Given the description of an element on the screen output the (x, y) to click on. 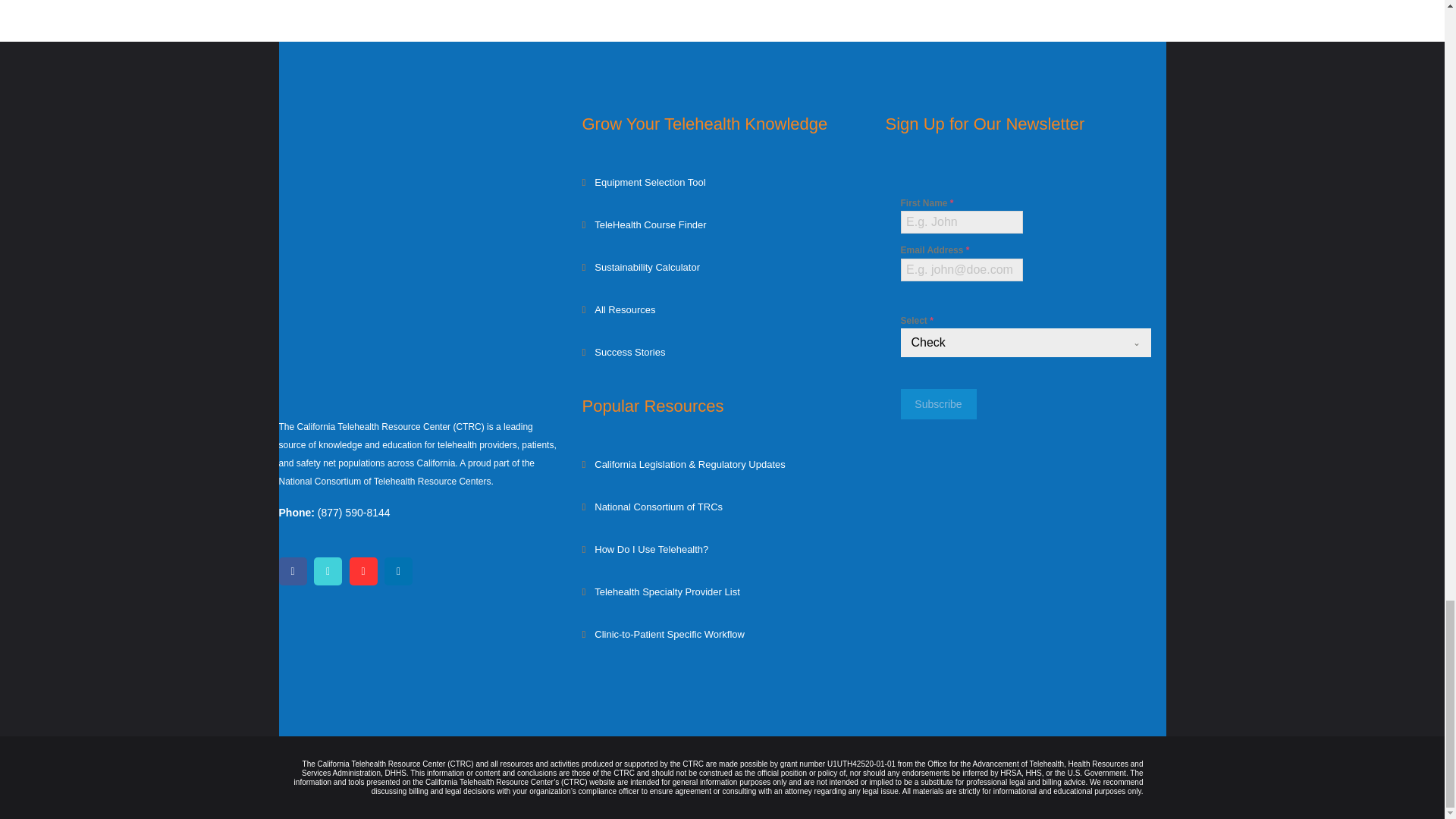
Check (1011, 342)
